Given the description of an element on the screen output the (x, y) to click on. 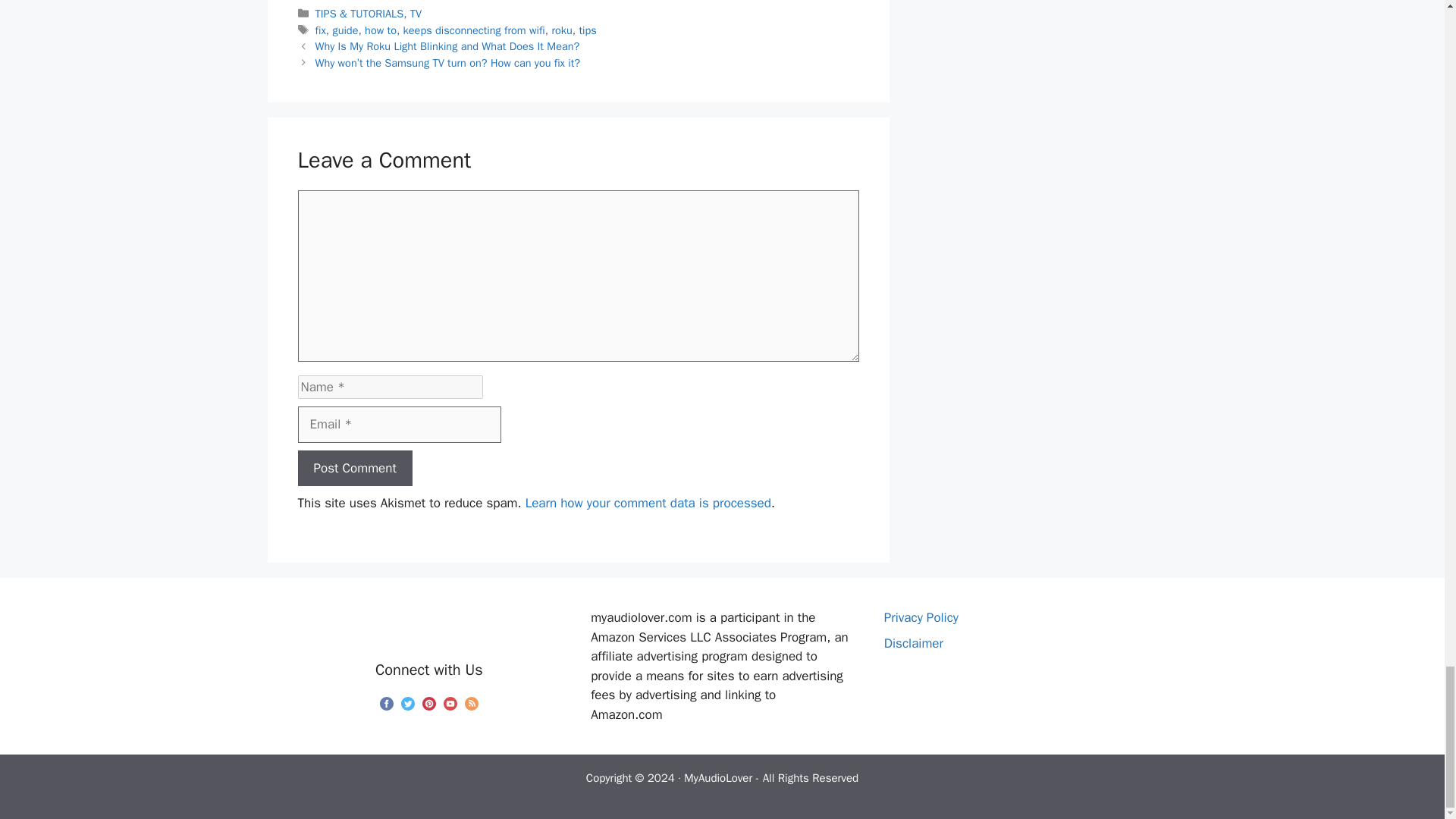
Learn how your comment data is processed (648, 503)
Why Is My Roku Light Blinking and What Does It Mean? (447, 46)
Post Comment (354, 468)
guide (344, 29)
tips (586, 29)
how to (380, 29)
roku (561, 29)
keeps disconnecting from wifi (473, 29)
Post Comment (354, 468)
